Given the description of an element on the screen output the (x, y) to click on. 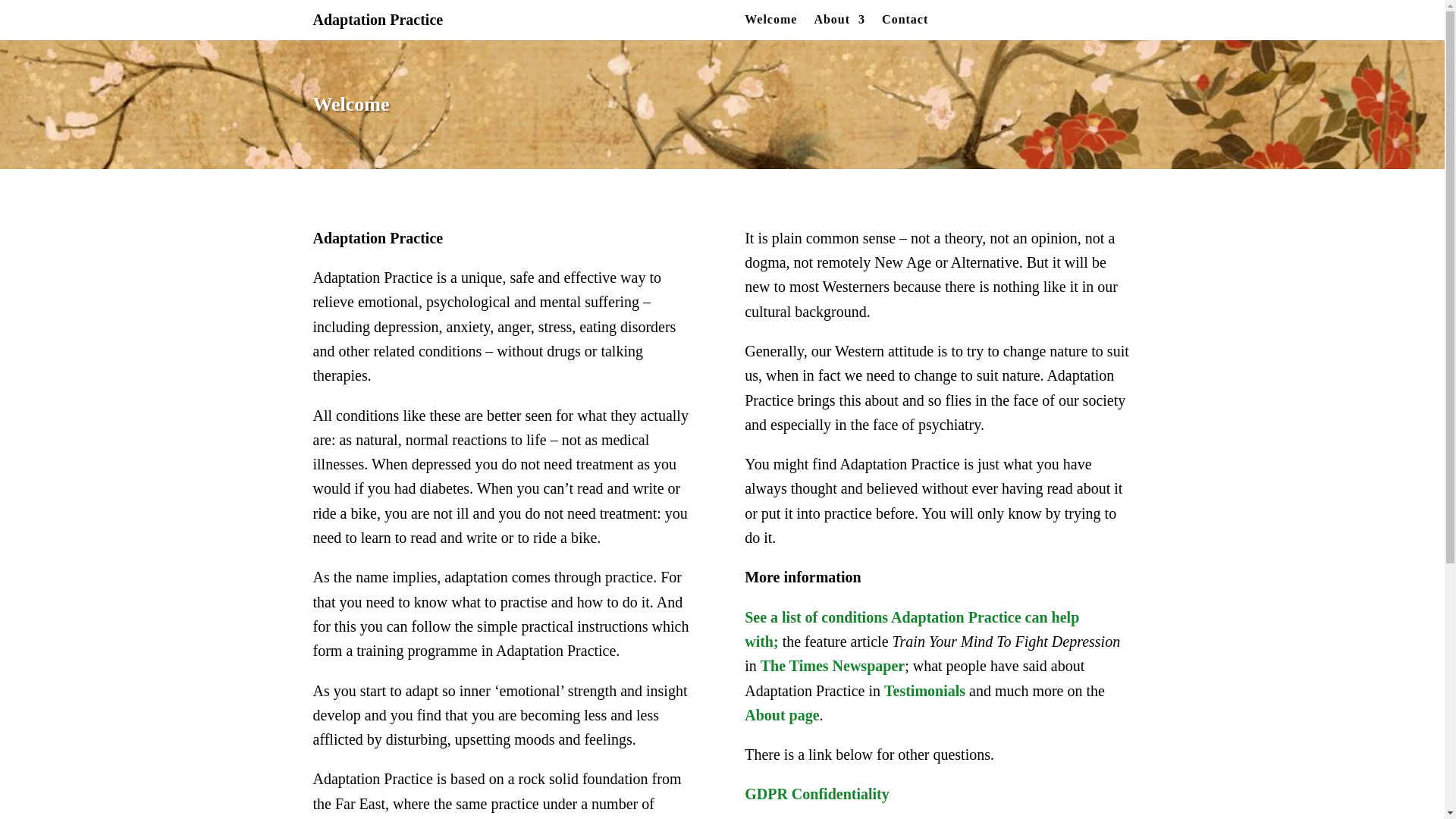
About (838, 23)
Testimonials (924, 690)
About page (781, 714)
Welcome (770, 23)
Contact (905, 23)
Adaptation Practice (377, 19)
